Given the description of an element on the screen output the (x, y) to click on. 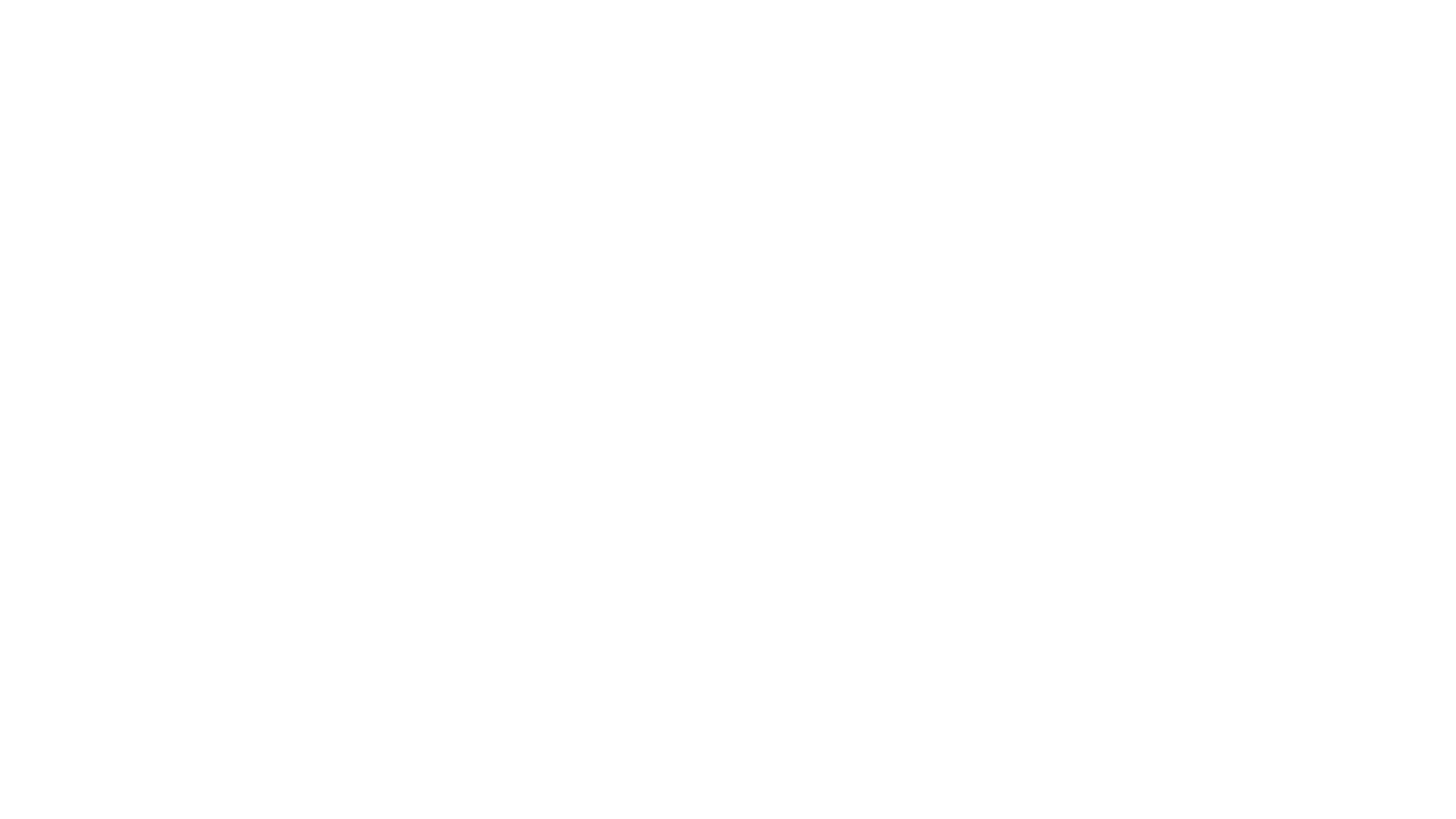
DeepCool-AK620-news.jpg Element type: hover (727, 327)
